Given the description of an element on the screen output the (x, y) to click on. 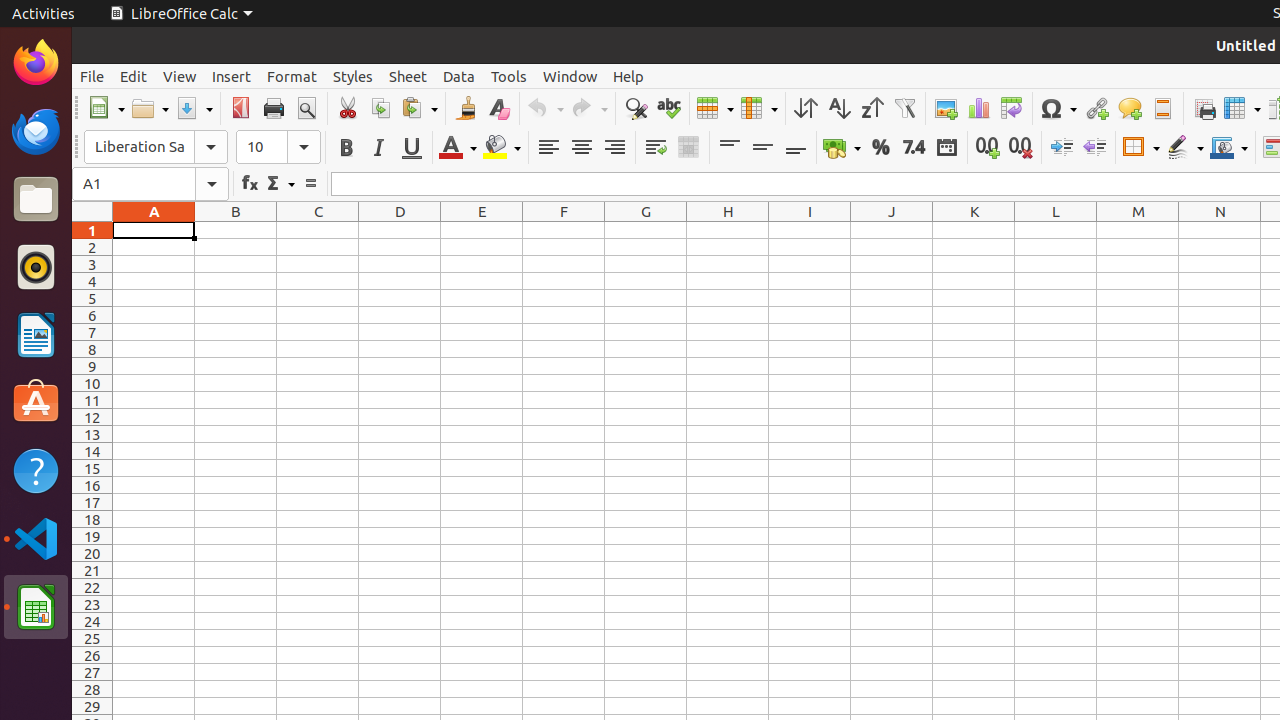
Function Wizard Element type: push-button (249, 183)
H1 Element type: table-cell (728, 230)
Thunderbird Mail Element type: push-button (36, 131)
Styles Element type: menu (353, 76)
Sort Element type: push-button (805, 108)
